Given the description of an element on the screen output the (x, y) to click on. 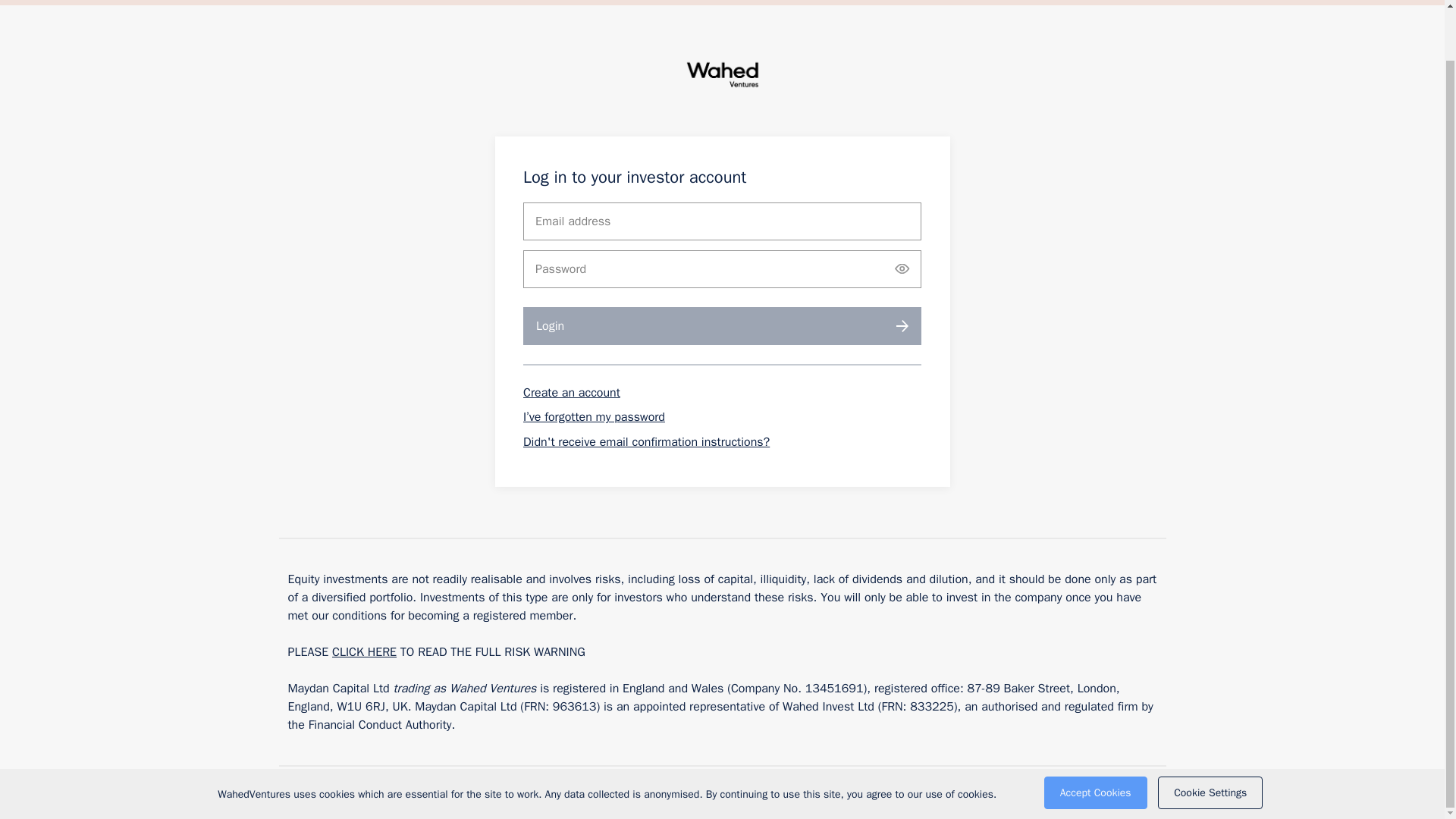
Login (721, 325)
Create an account (571, 392)
WahedVentures (721, 76)
Cookie Settings (1209, 738)
CLICK HERE (363, 652)
Investment websites (299, 790)
Accept Cookies (1095, 738)
Didn't receive email confirmation instructions? (646, 441)
